Given the description of an element on the screen output the (x, y) to click on. 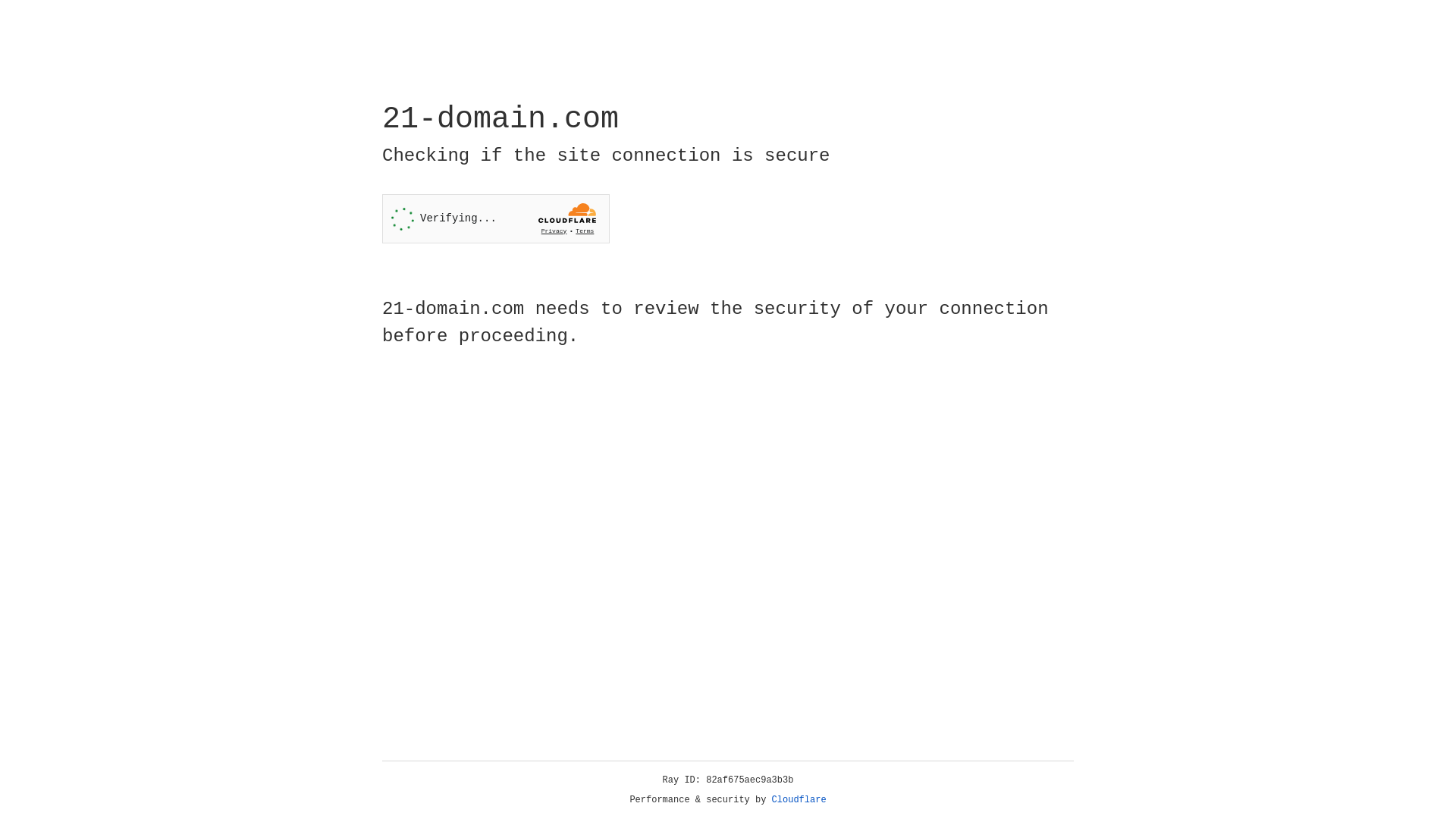
Widget containing a Cloudflare security challenge Element type: hover (495, 218)
Cloudflare Element type: text (798, 799)
